Given the description of an element on the screen output the (x, y) to click on. 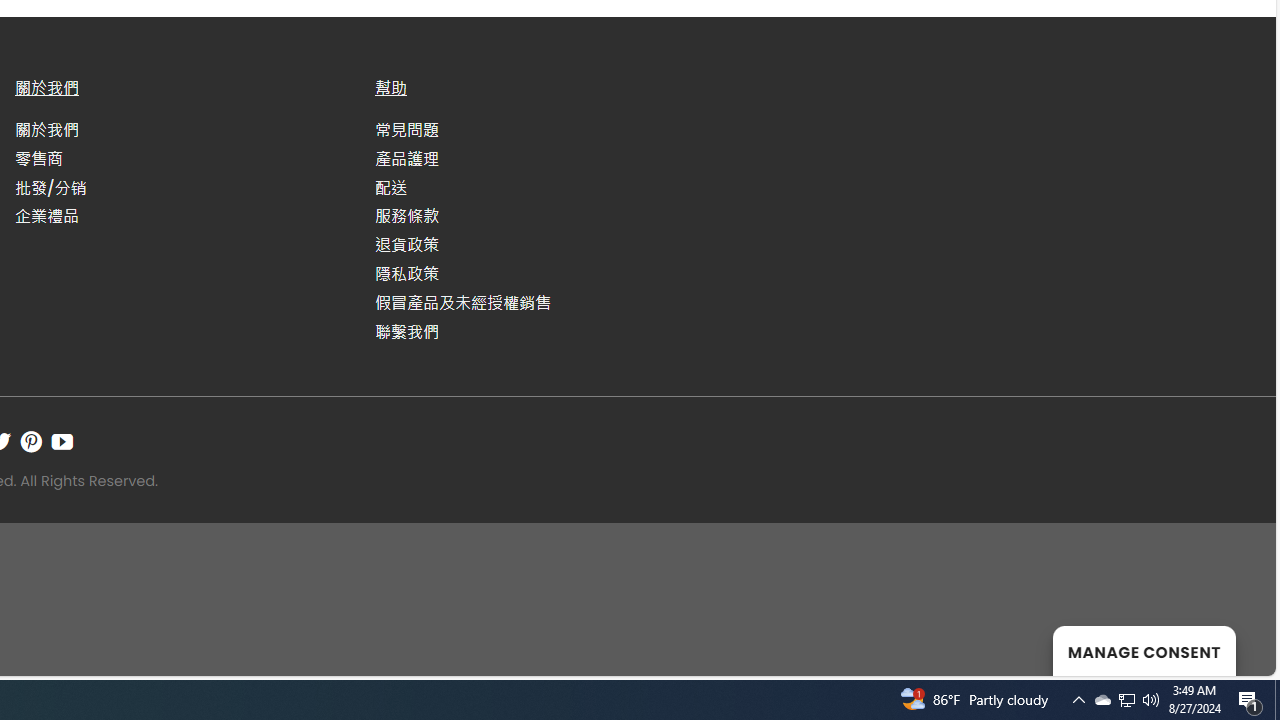
Go to top (1234, 647)
Follow on YouTube (61, 441)
Follow on Pinterest (31, 441)
